Given the description of an element on the screen output the (x, y) to click on. 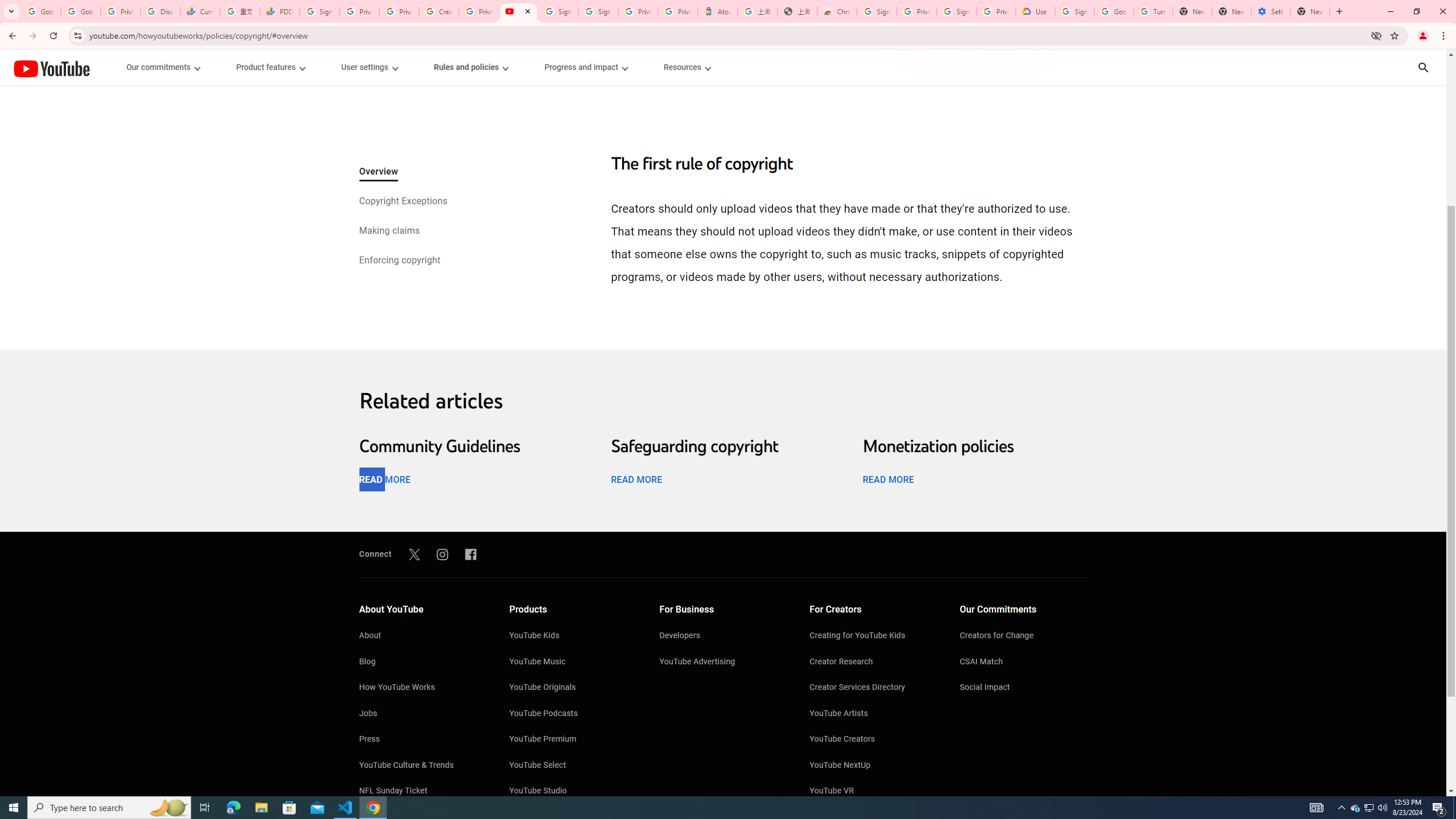
NFL Sunday Ticket (422, 791)
Google Workspace Admin Community (40, 11)
Product features menupopup (269, 67)
Progress and impact menupopup (585, 67)
Enforcing copyright (399, 261)
YouTube Originals (573, 687)
Creating for YouTube Kids (873, 636)
YouTube Culture & Trends (422, 765)
Instagram (442, 553)
PDD Holdings Inc - ADR (PDD) Price & News - Google Finance (279, 11)
Sign in - Google Accounts (876, 11)
YouTube Copyright Rules & Policies - How YouTube Works (518, 11)
